Given the description of an element on the screen output the (x, y) to click on. 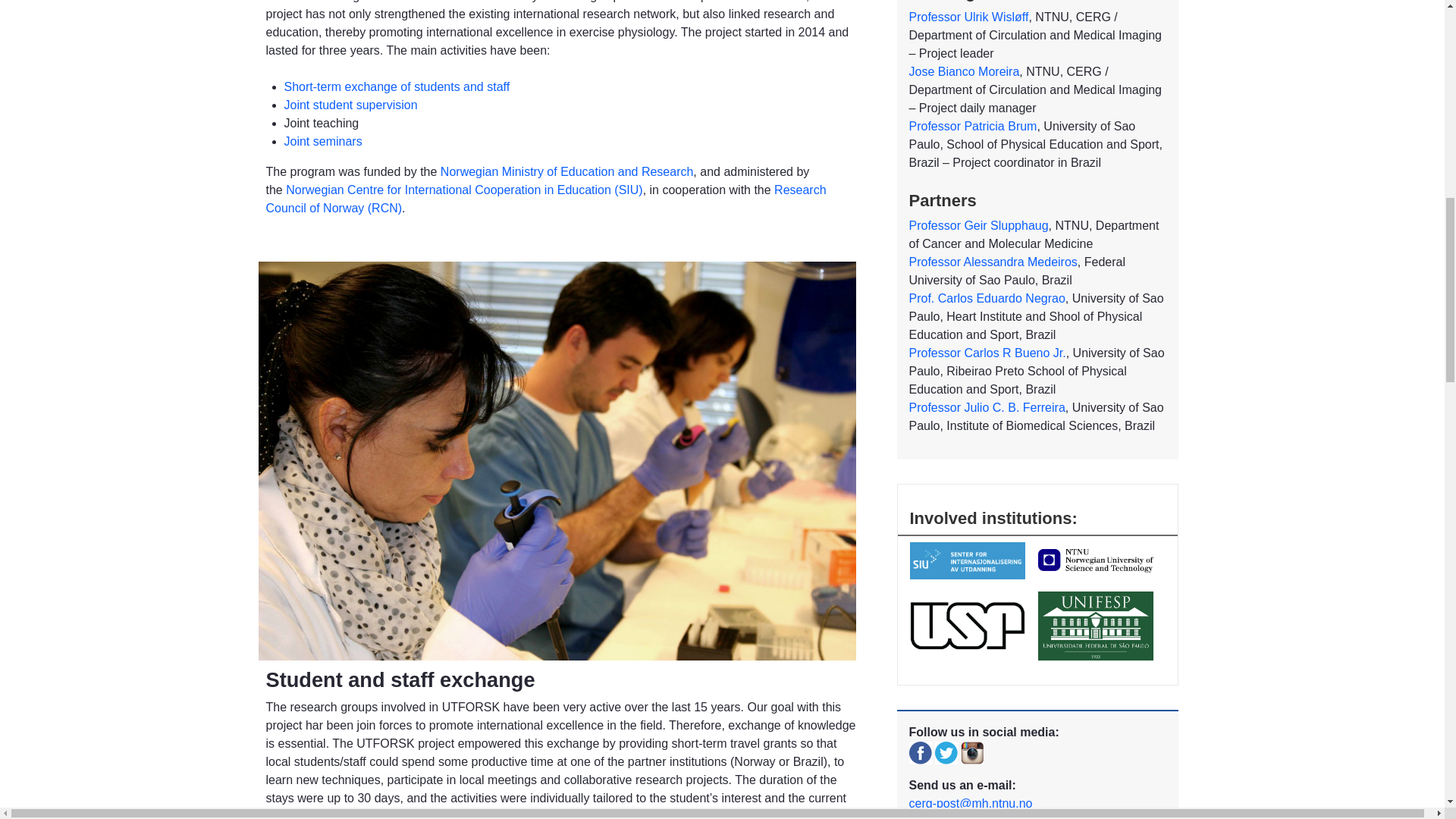
Joint student supervision (349, 104)
Short-term exchange of students and staff (396, 86)
